Given the description of an element on the screen output the (x, y) to click on. 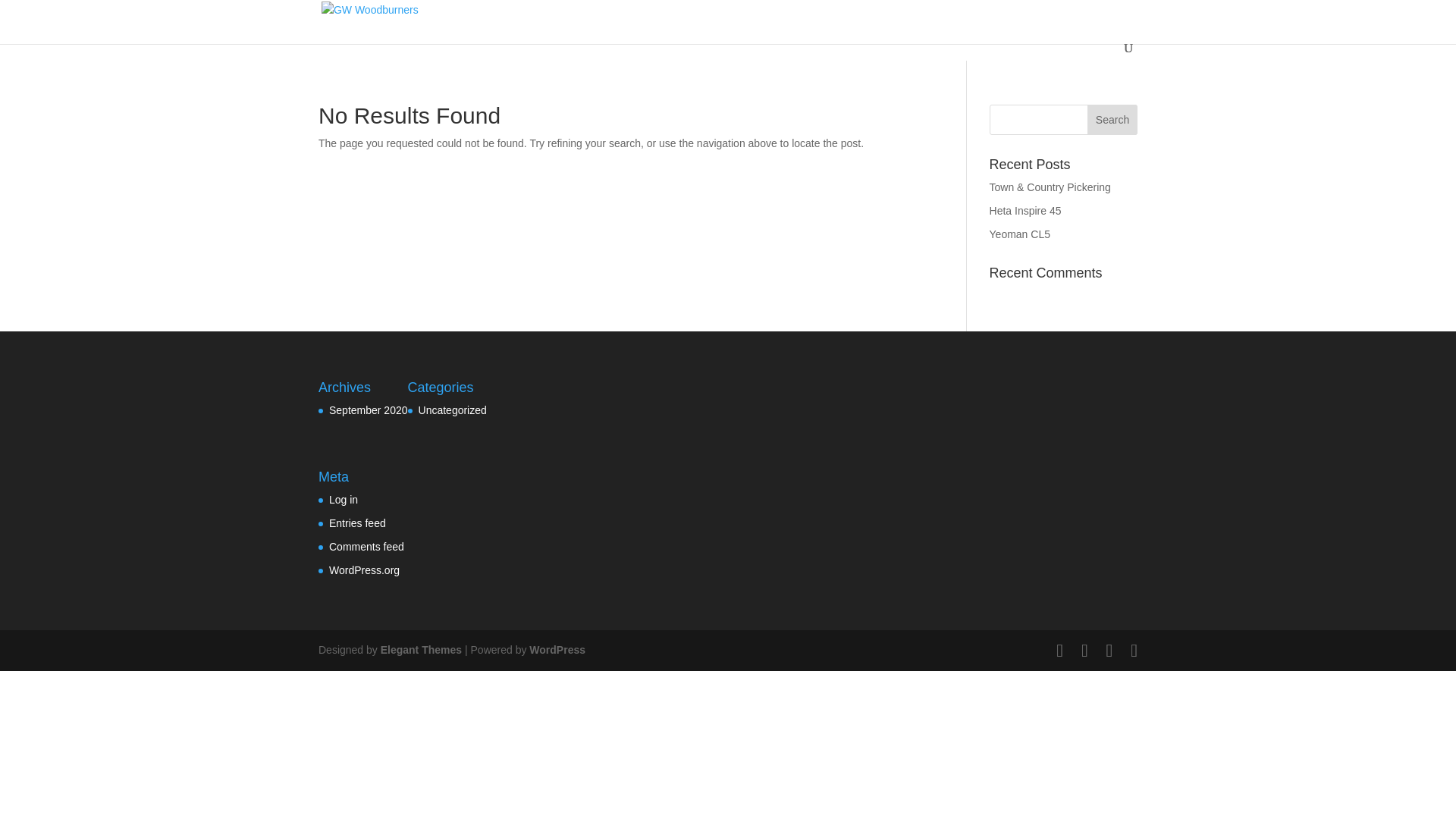
Log in (343, 499)
Heta Inspire 45 (1025, 210)
Search (1112, 119)
Uncategorized (452, 410)
Comments feed (366, 546)
Search (1112, 119)
Entries feed (357, 522)
Premium WordPress Themes (420, 649)
Yeoman CL5 (1019, 234)
WordPress.org (363, 570)
